Given the description of an element on the screen output the (x, y) to click on. 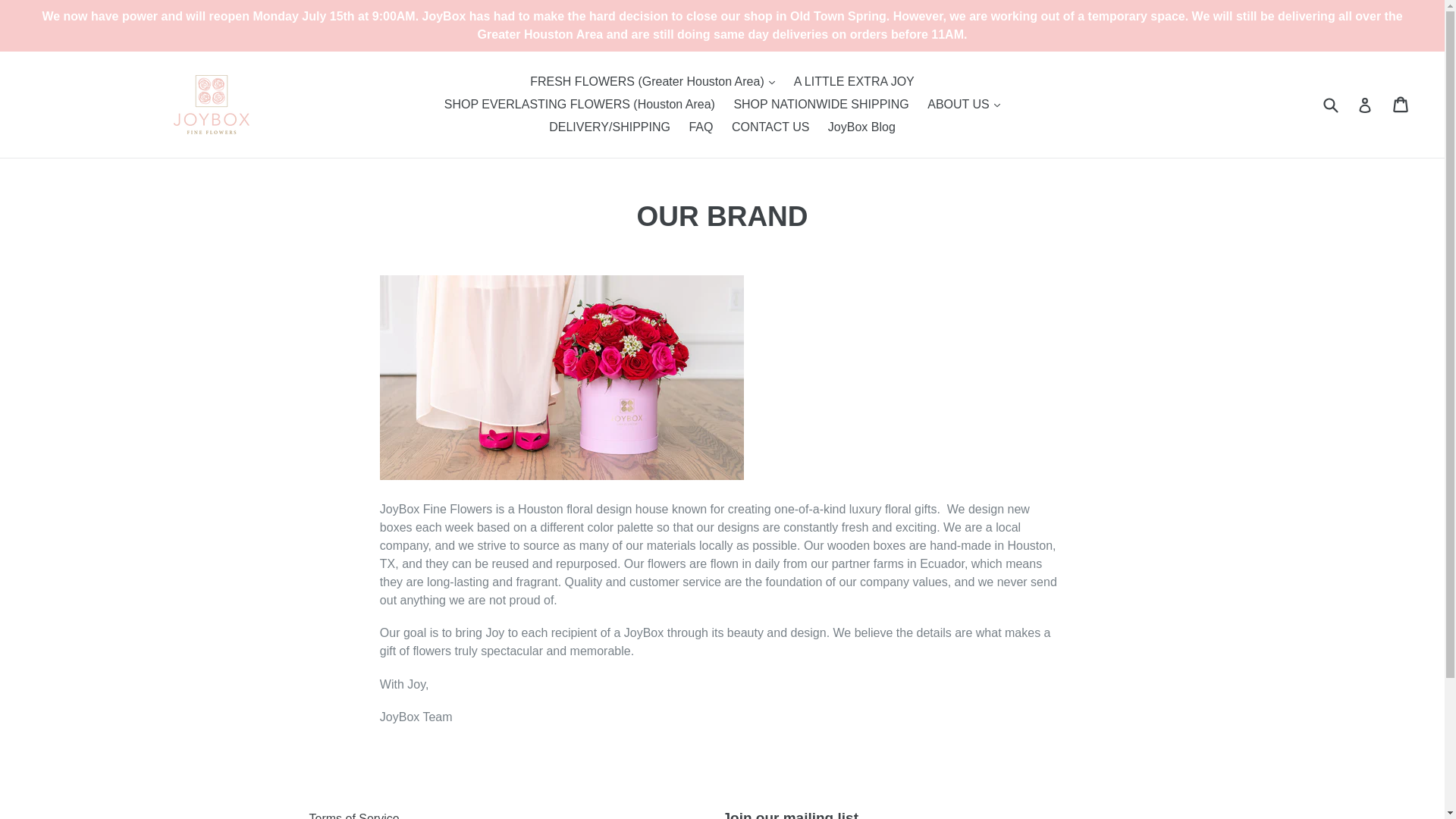
SHOP NATIONWIDE SHIPPING (820, 104)
JoyBox Blog (861, 127)
A LITTLE EXTRA JOY (853, 81)
CONTACT US (769, 127)
Terms of Service (353, 815)
A LITTLE EXTRA JOY (853, 81)
Joy Box Flowers (210, 104)
FAQ (700, 127)
